Given the description of an element on the screen output the (x, y) to click on. 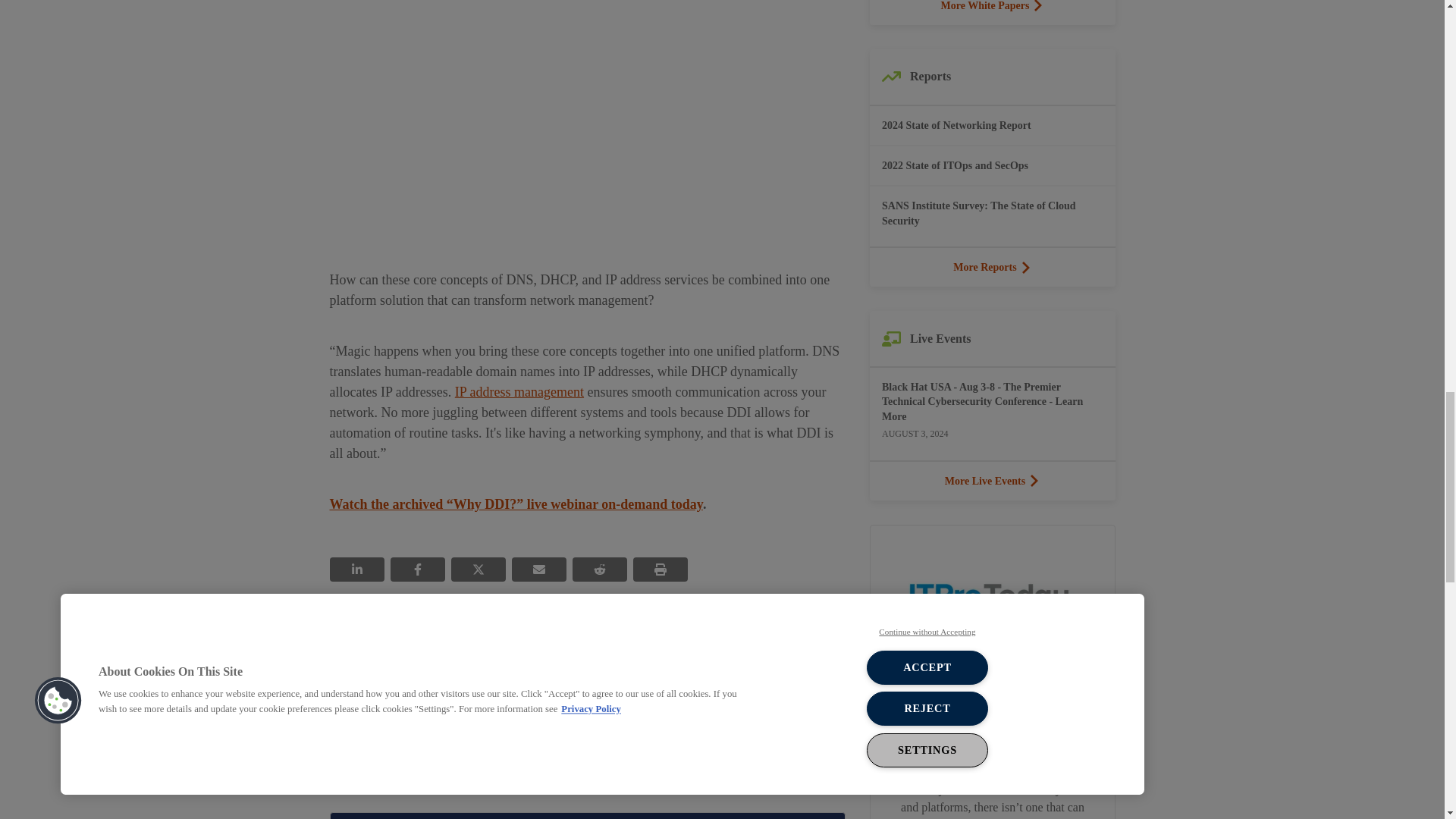
Embedded content (586, 119)
